Given the description of an element on the screen output the (x, y) to click on. 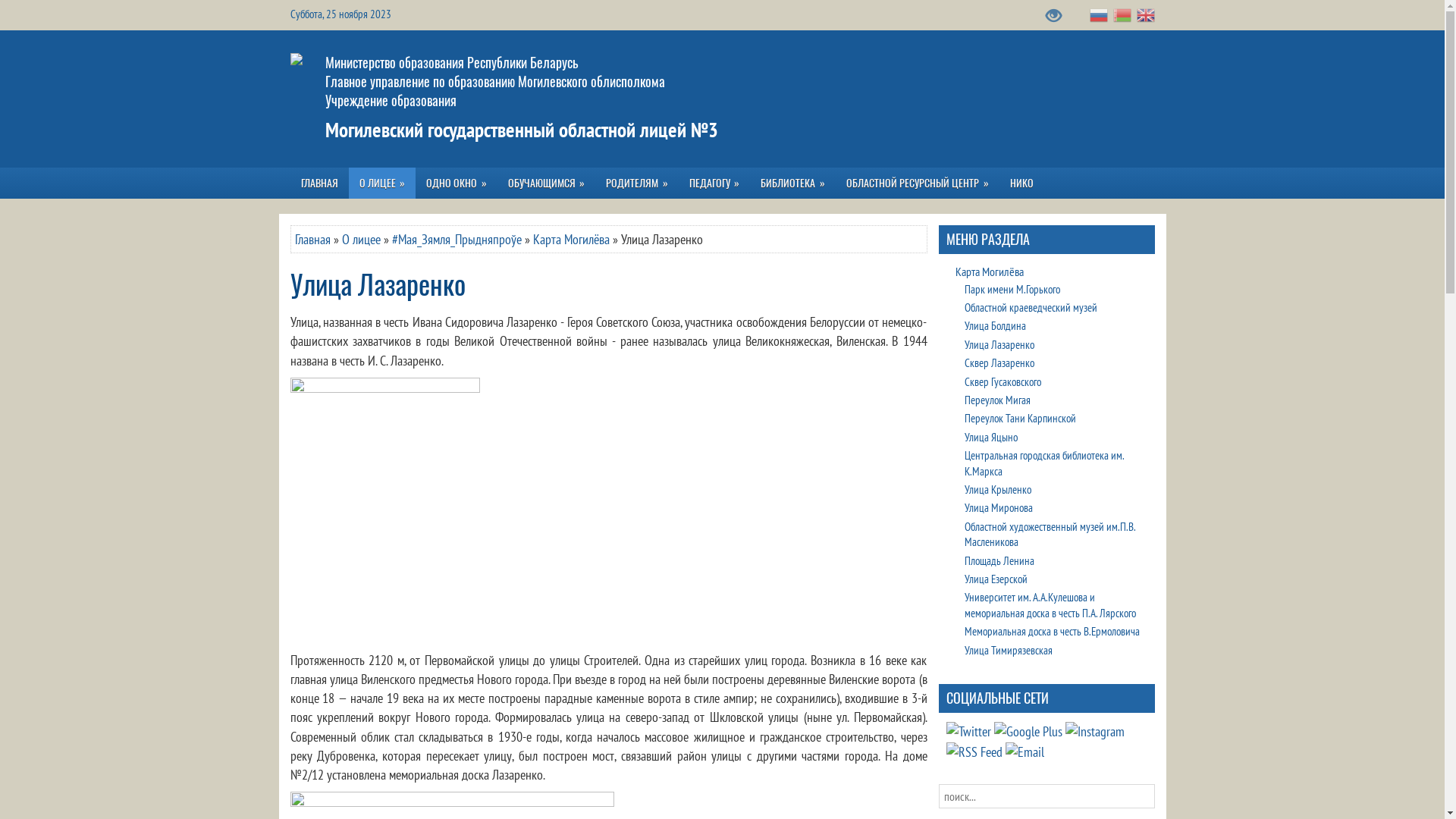
Email Element type: hover (1024, 751)
Instagram Element type: hover (1093, 730)
Youtube Element type: hover (1027, 730)
VK Element type: hover (968, 730)
RSS Feed Element type: hover (974, 751)
